Given the description of an element on the screen output the (x, y) to click on. 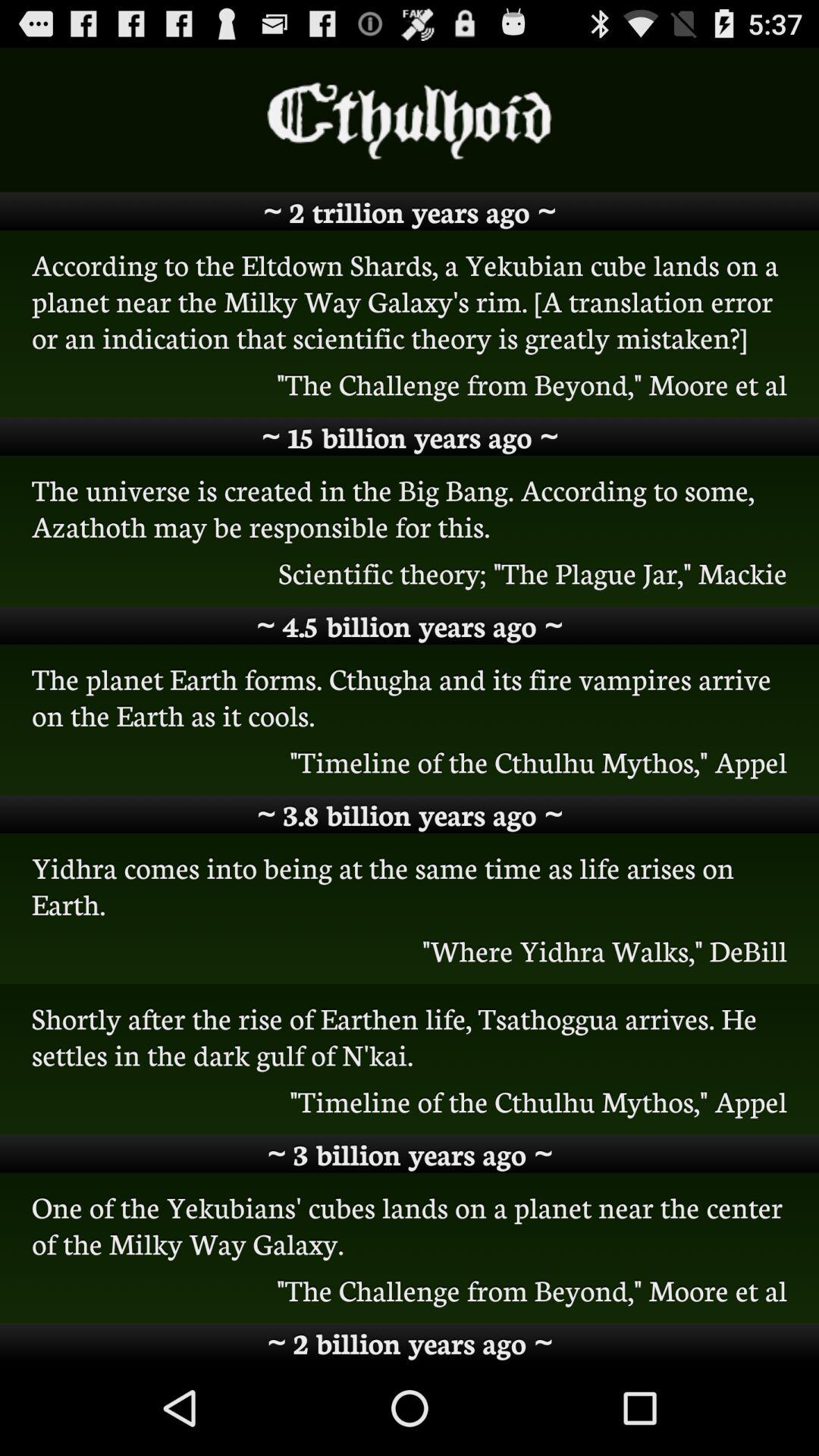
turn off the 4 5 billion item (409, 625)
